Given the description of an element on the screen output the (x, y) to click on. 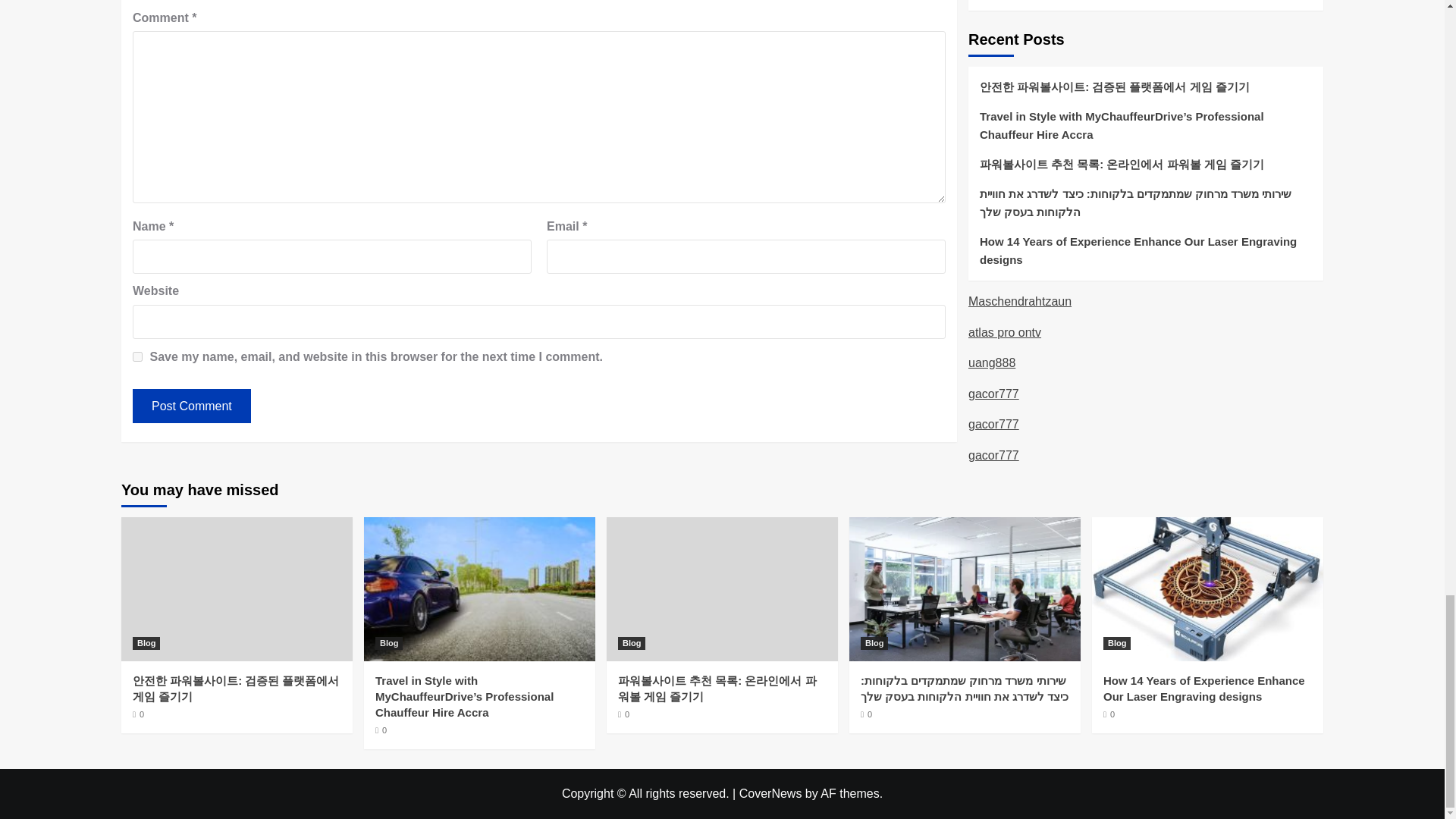
Post Comment (191, 406)
yes (137, 356)
Post Comment (191, 406)
